Given the description of an element on the screen output the (x, y) to click on. 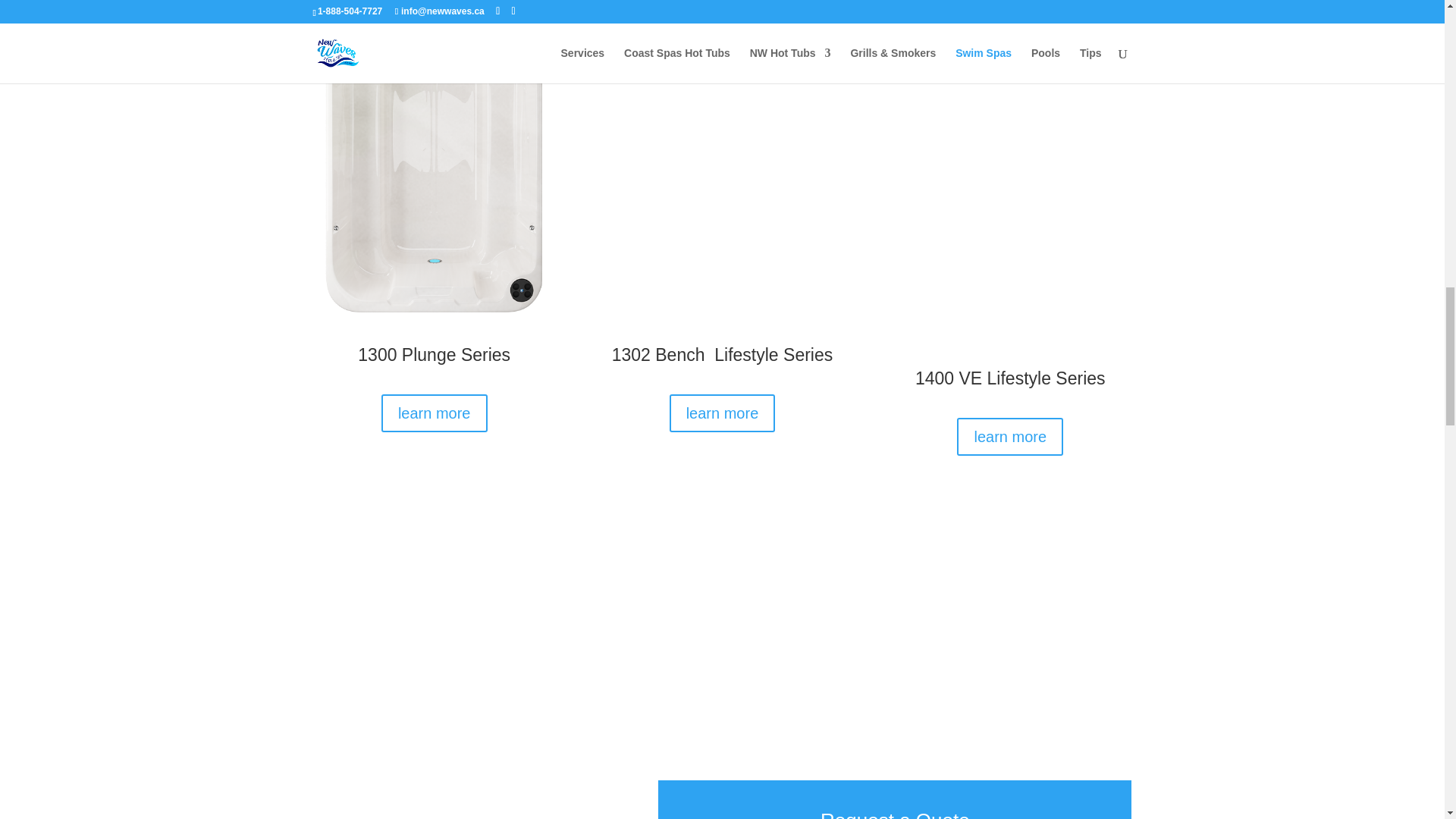
learn more (722, 412)
learn more (434, 412)
learn more (1009, 436)
Coast Spas 1600 Swim Spa Review (462, 673)
